Given the description of an element on the screen output the (x, y) to click on. 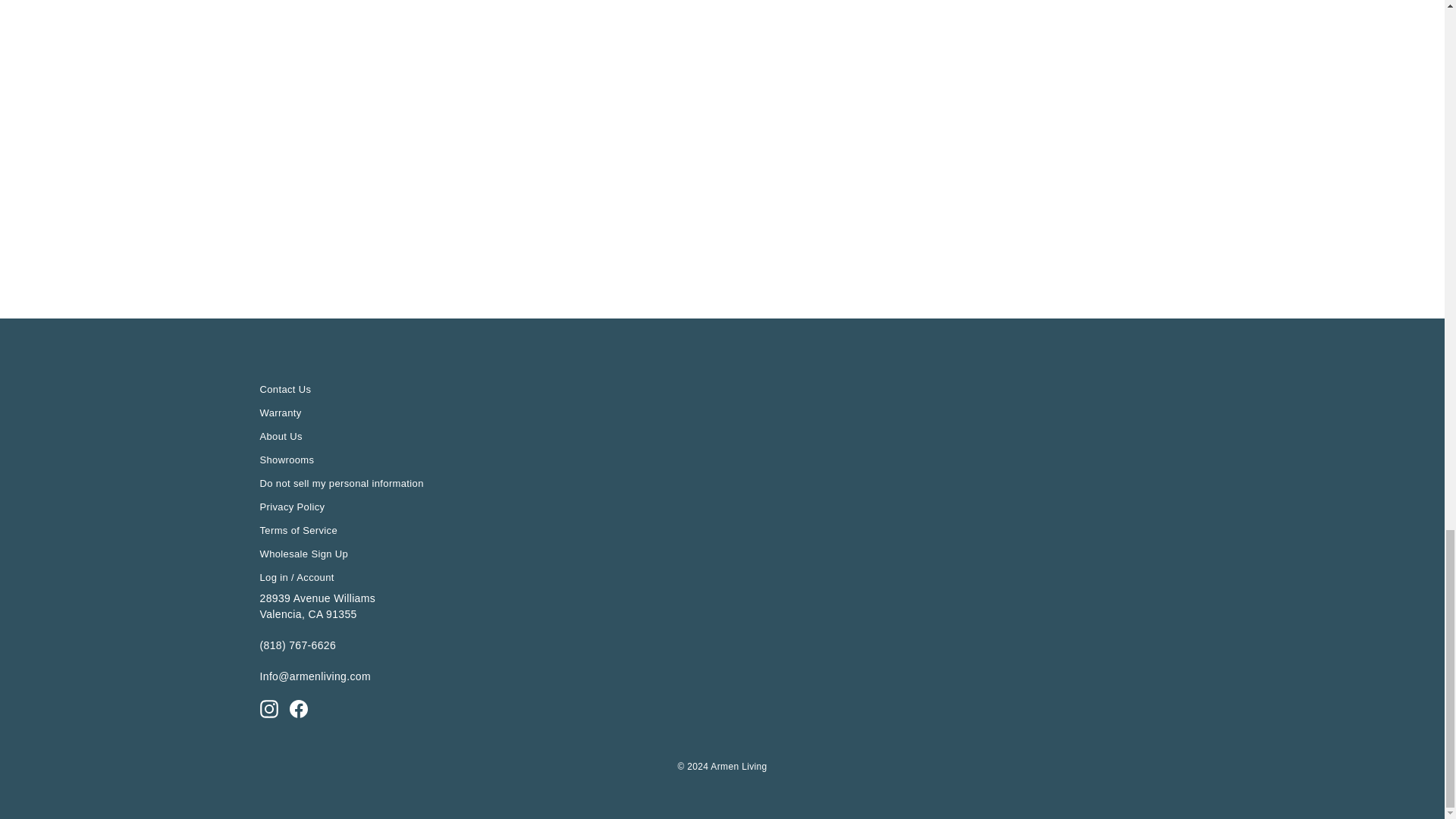
instagram (268, 709)
Armen Living on Facebook (298, 709)
Armen Living on Instagram (268, 709)
